Given the description of an element on the screen output the (x, y) to click on. 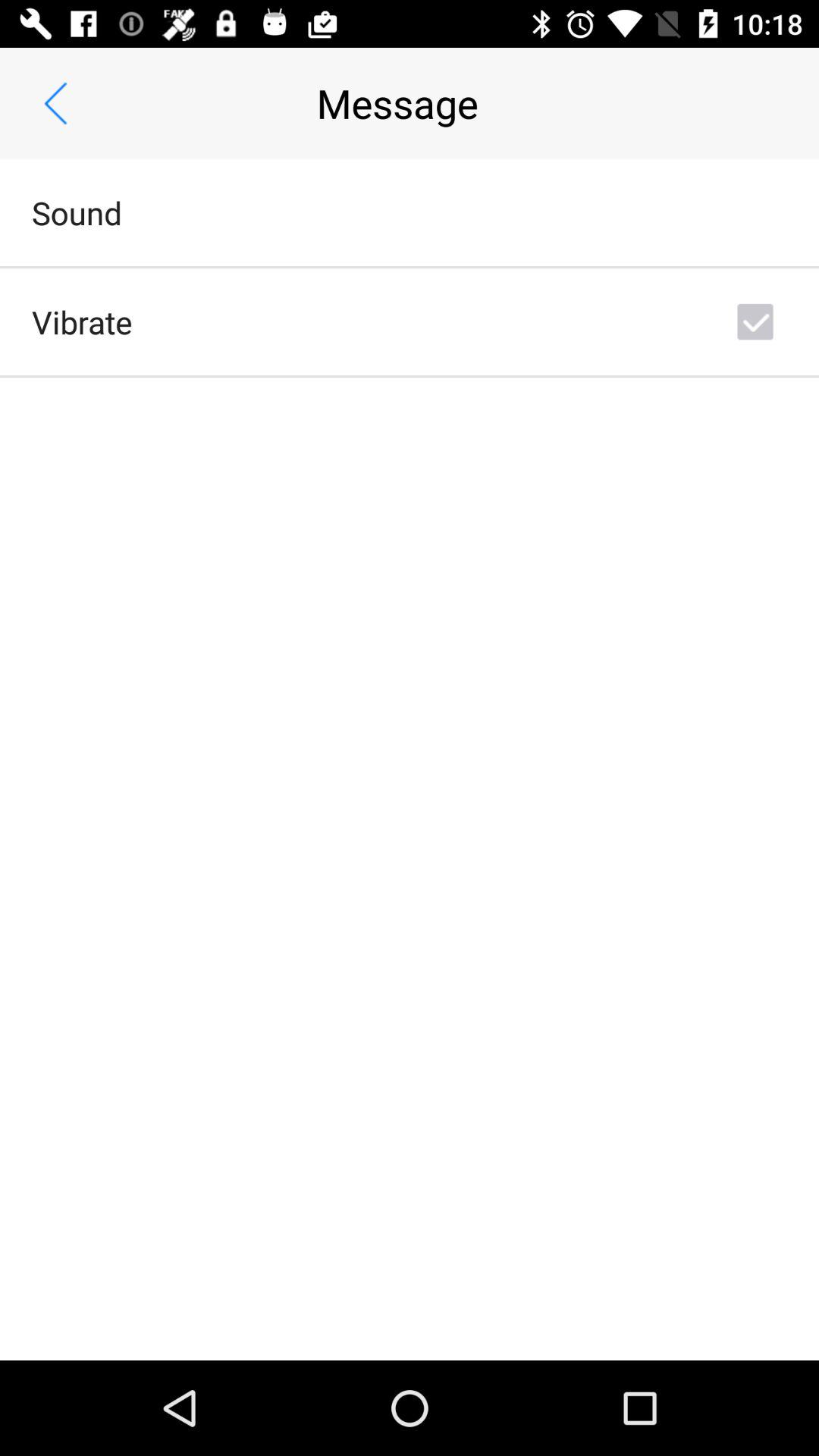
scroll to vibrate item (81, 321)
